Given the description of an element on the screen output the (x, y) to click on. 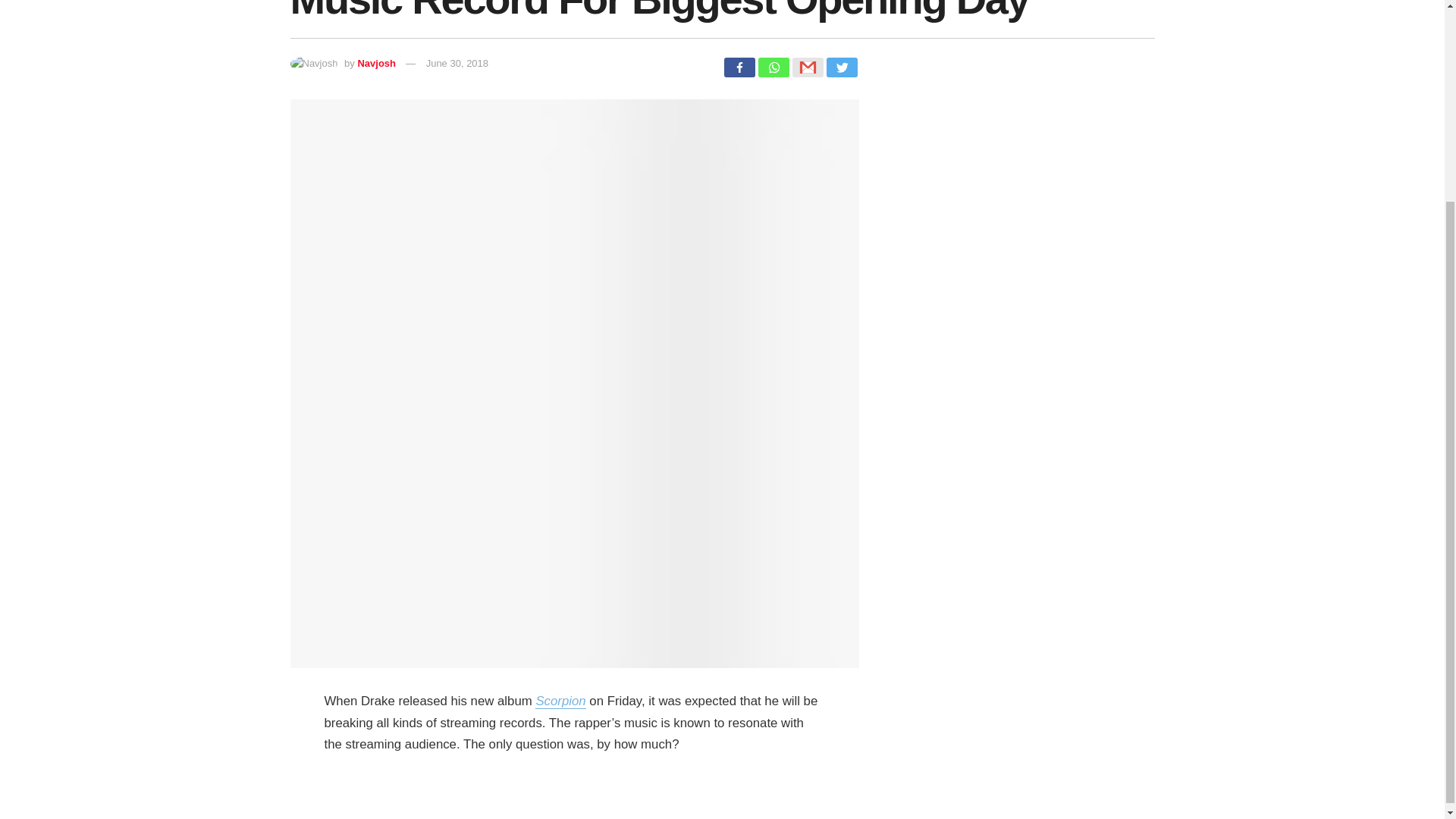
Facebook (738, 66)
Google Gmail (807, 66)
Navjosh (376, 62)
Whatsapp (773, 66)
Twitter (842, 66)
June 30, 2018 (456, 62)
